Given the description of an element on the screen output the (x, y) to click on. 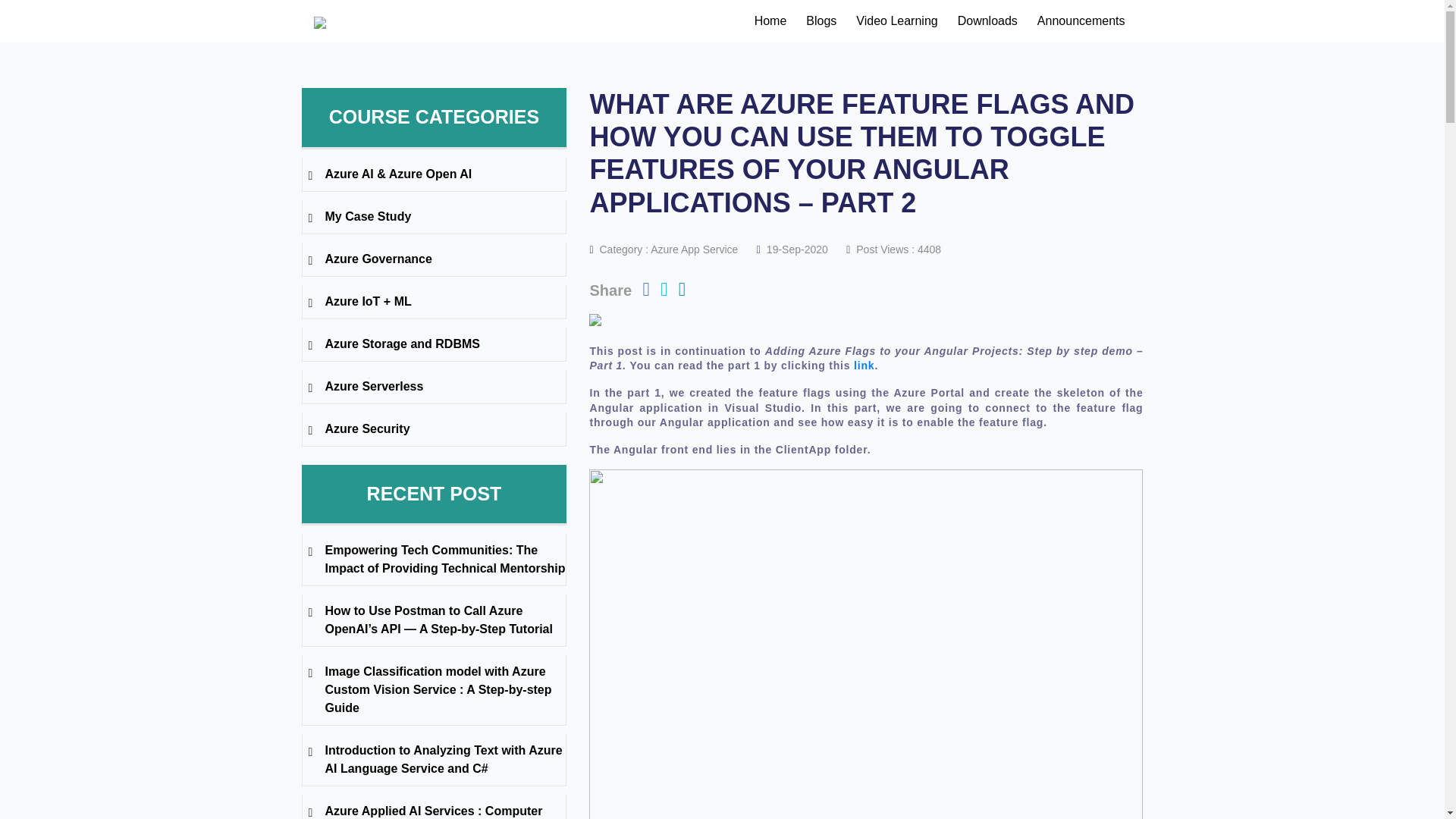
Azure Storage and RDBMS (433, 343)
Azure Governance (433, 259)
Blogs (821, 20)
Home (770, 20)
Azure Serverless (433, 386)
Announcements (1080, 20)
Video Learning (896, 20)
